Given the description of an element on the screen output the (x, y) to click on. 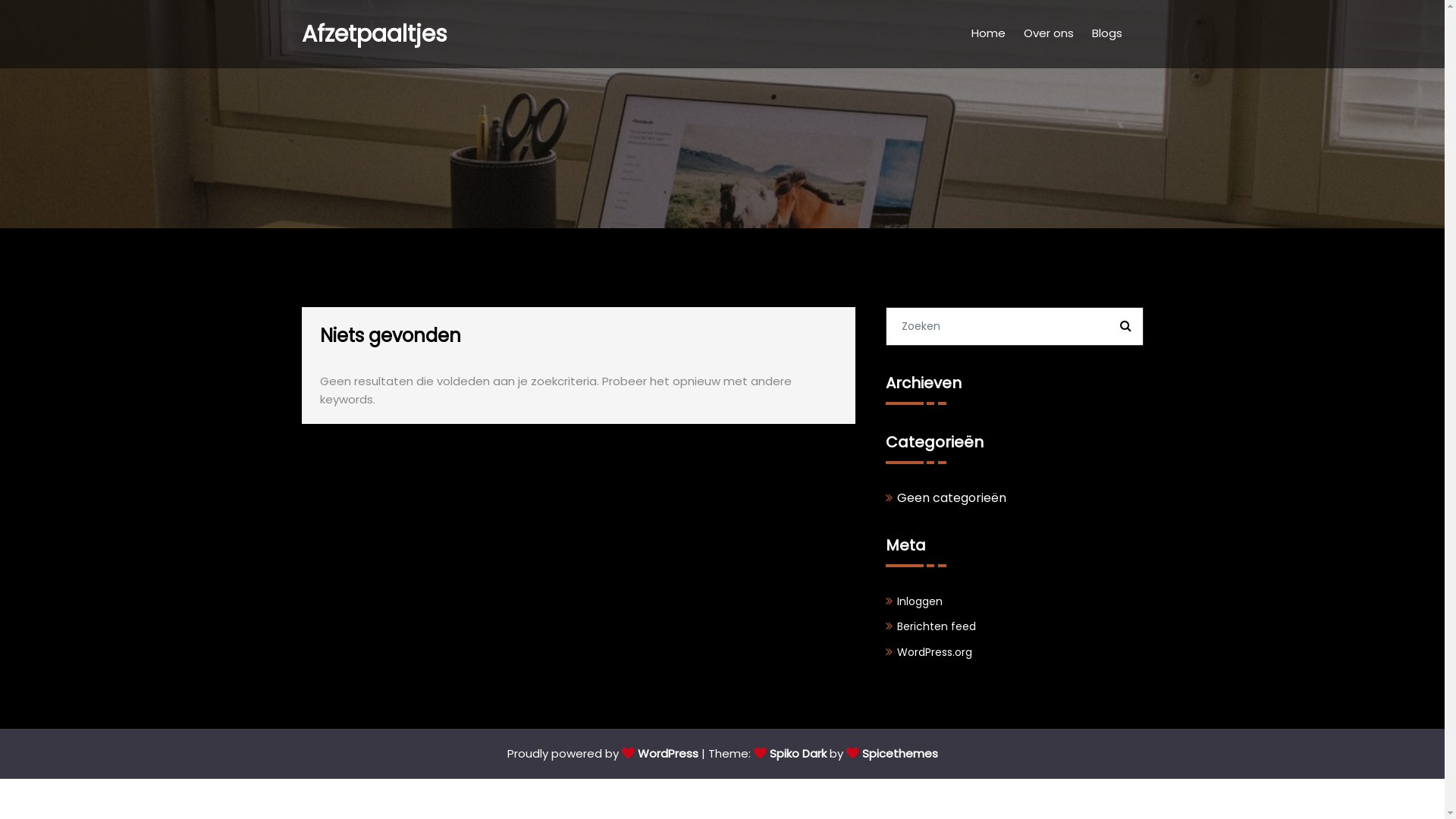
Over ons Element type: text (1048, 34)
WordPress.org Element type: text (933, 651)
Home Element type: text (987, 34)
Spiko Dark Element type: text (789, 753)
Berichten feed Element type: text (935, 625)
Afzetpaaltjes Element type: text (374, 34)
Inloggen Element type: text (918, 600)
WordPress Element type: text (659, 753)
Spicethemes Element type: text (892, 753)
Blogs Element type: text (1106, 34)
